Given the description of an element on the screen output the (x, y) to click on. 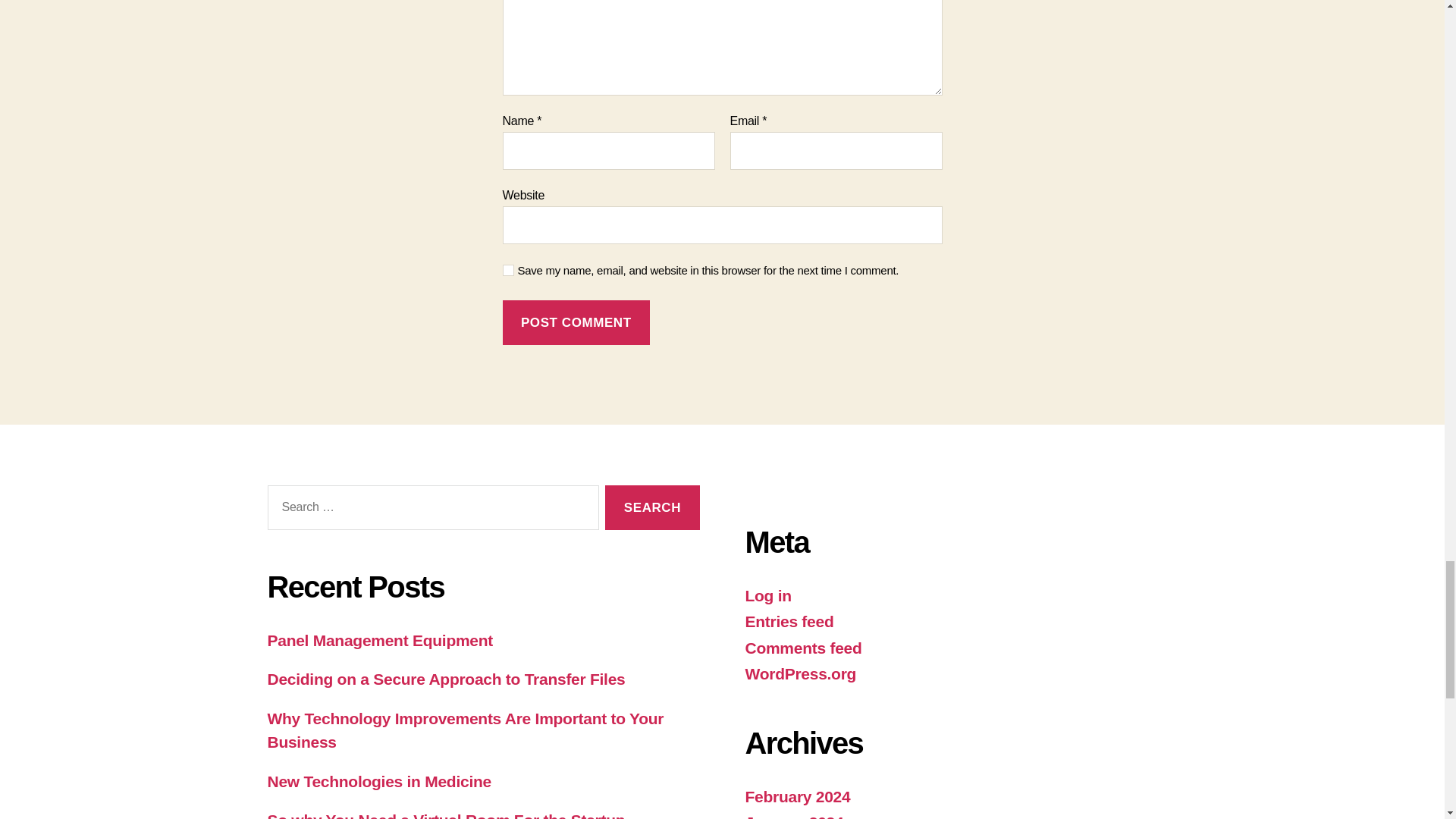
New Technologies in Medicine (378, 781)
Panel Management Equipment (379, 640)
Search (651, 507)
Deciding on a Secure Approach to Transfer Files (445, 678)
So why You Need a Virtual Room For the Startup (445, 815)
Post Comment (575, 322)
Post Comment (575, 322)
Search (651, 507)
Search (651, 507)
Why Technology Improvements Are Important to Your Business (464, 730)
